Given the description of an element on the screen output the (x, y) to click on. 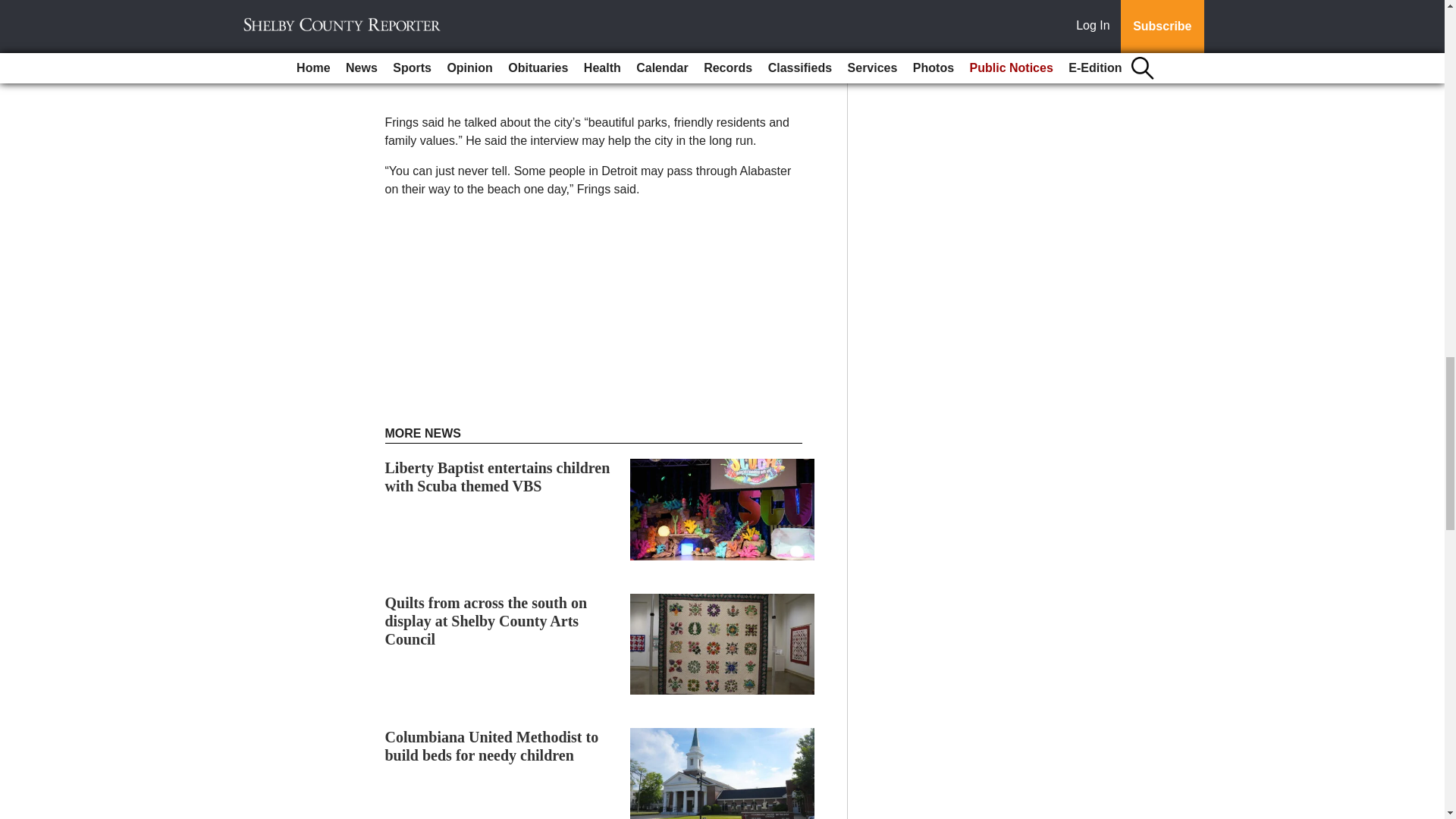
Liberty Baptist entertains children with Scuba themed VBS (497, 476)
Columbiana United Methodist to build beds for needy children (491, 745)
